Given the description of an element on the screen output the (x, y) to click on. 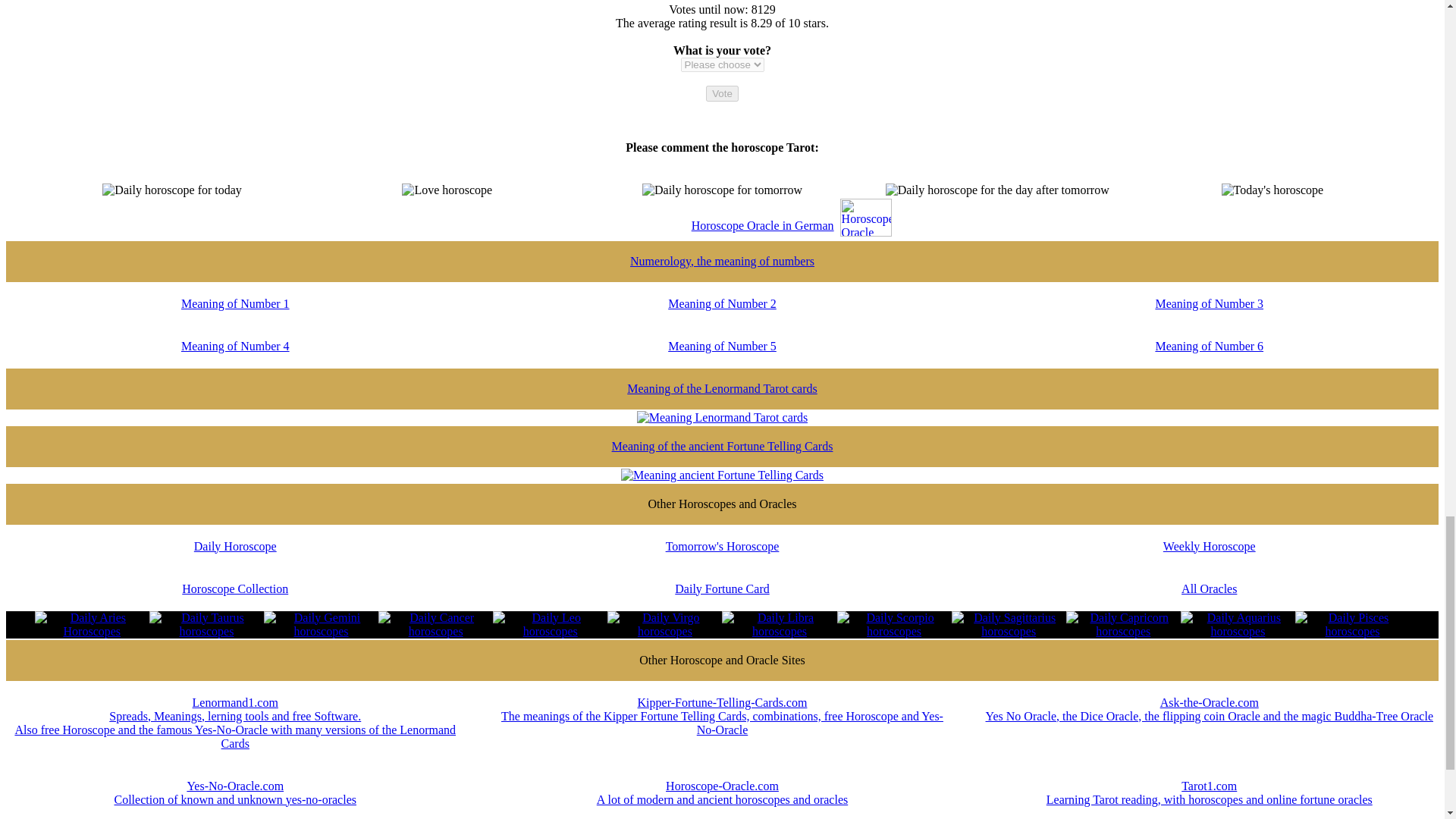
Vote (722, 92)
Meaning of the ancient Fortune Telling Cards (721, 452)
Meaning of Number 4 (234, 359)
Meaning of Number 2 (722, 317)
Numerology, the meaning of numbers (721, 267)
Meaning of Number 3 (1208, 317)
Meaning of Number 1 (234, 317)
Meaning of Number 5 (722, 359)
Horoscope Oracle in German (762, 224)
Vote (722, 92)
